Given the description of an element on the screen output the (x, y) to click on. 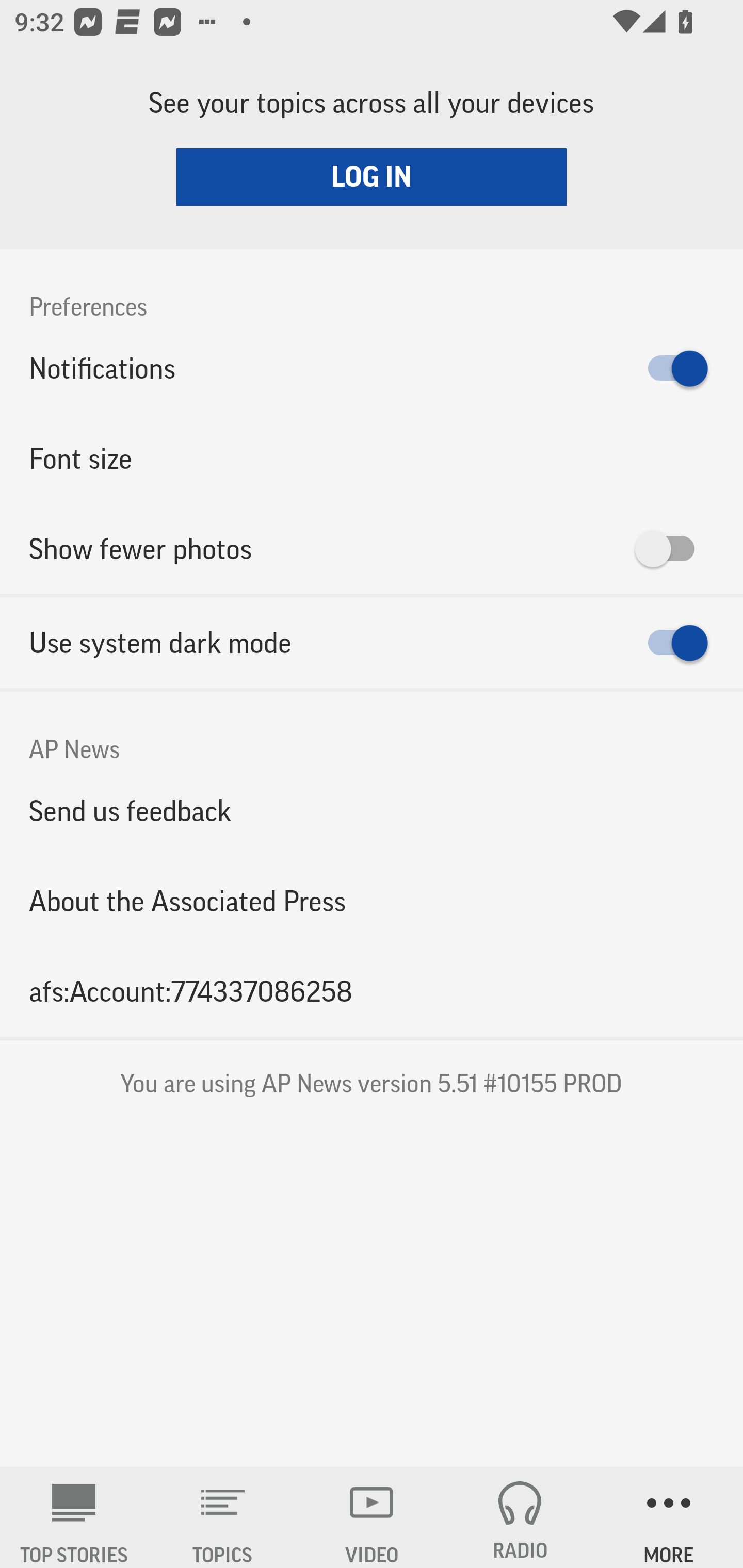
LOG IN (371, 176)
Notifications (371, 368)
Font size (371, 458)
Show fewer photos (371, 548)
Use system dark mode (371, 642)
Send us feedback (371, 810)
About the Associated Press (371, 901)
afs:Account:774337086258 (371, 991)
AP News TOP STORIES (74, 1517)
TOPICS (222, 1517)
VIDEO (371, 1517)
RADIO (519, 1517)
MORE (668, 1517)
